Given the description of an element on the screen output the (x, y) to click on. 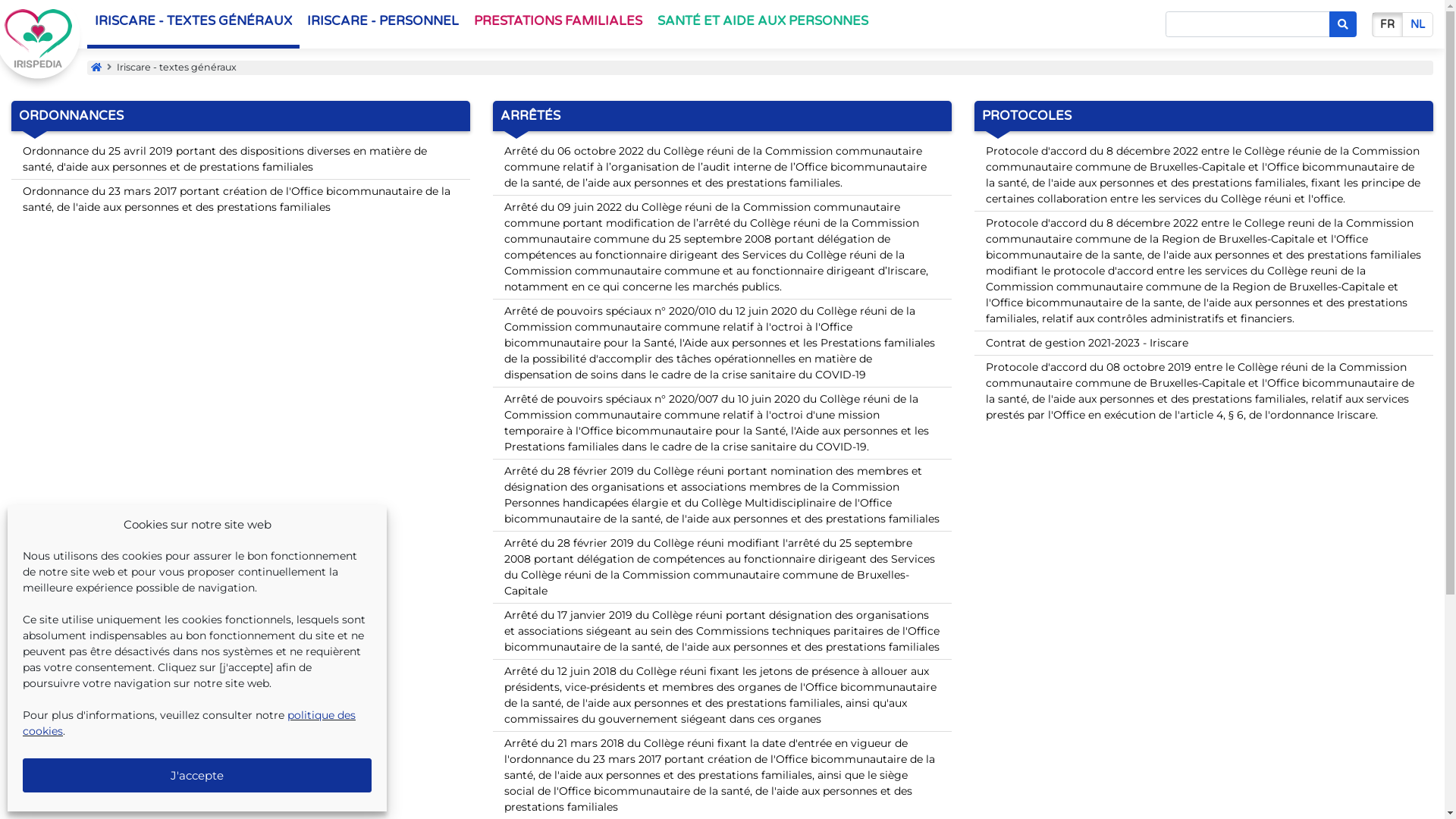
Accueil Element type: hover (96, 66)
FR Element type: text (1387, 24)
J'accepte Element type: text (196, 775)
NL Element type: text (1417, 24)
PRESTATIONS FAMILIALES Element type: text (557, 24)
Contrat de gestion 2021-2023 - Iriscare Element type: text (1203, 342)
IRISCARE - PERSONNEL Element type: text (382, 24)
politique des cookies Element type: text (188, 722)
